Given the description of an element on the screen output the (x, y) to click on. 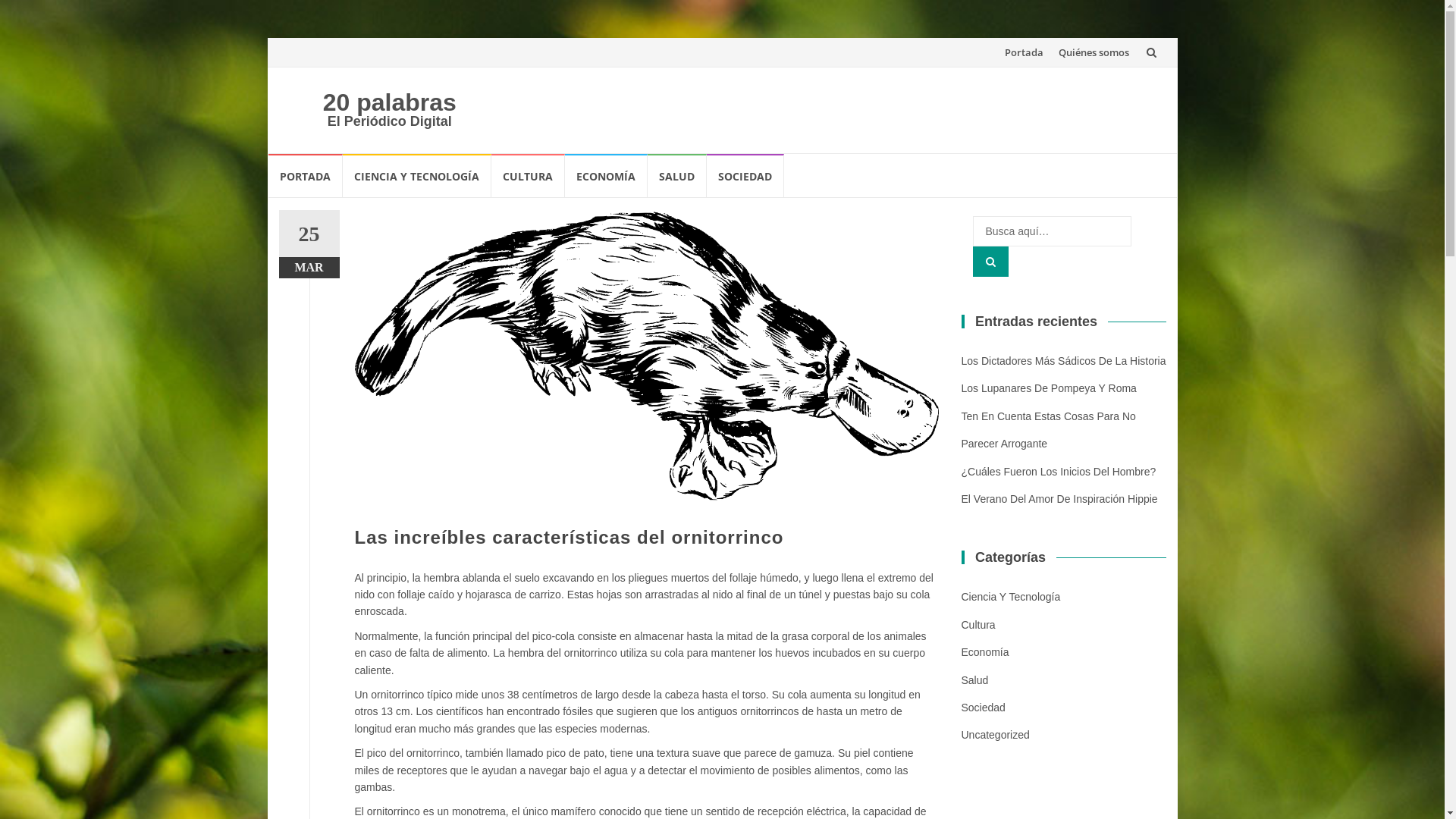
Los Lupanares De Pompeya Y Roma Element type: text (1048, 388)
SALUD Element type: text (676, 175)
20 palabras Element type: text (389, 102)
Cultura Element type: text (978, 624)
Uncategorized Element type: text (995, 734)
PORTADA Element type: text (305, 175)
SOCIEDAD Element type: text (745, 175)
Portada Element type: text (1023, 52)
Sociedad Element type: text (983, 707)
Search Element type: hover (989, 261)
Ten En Cuenta Estas Cosas Para No Parecer Arrogante Element type: text (1048, 429)
Salud Element type: text (974, 680)
Saltar al contenido Element type: text (266, 153)
CULTURA Element type: text (527, 175)
Buscar por: Element type: hover (1051, 231)
Saltar al contenido Element type: text (996, 37)
